Given the description of an element on the screen output the (x, y) to click on. 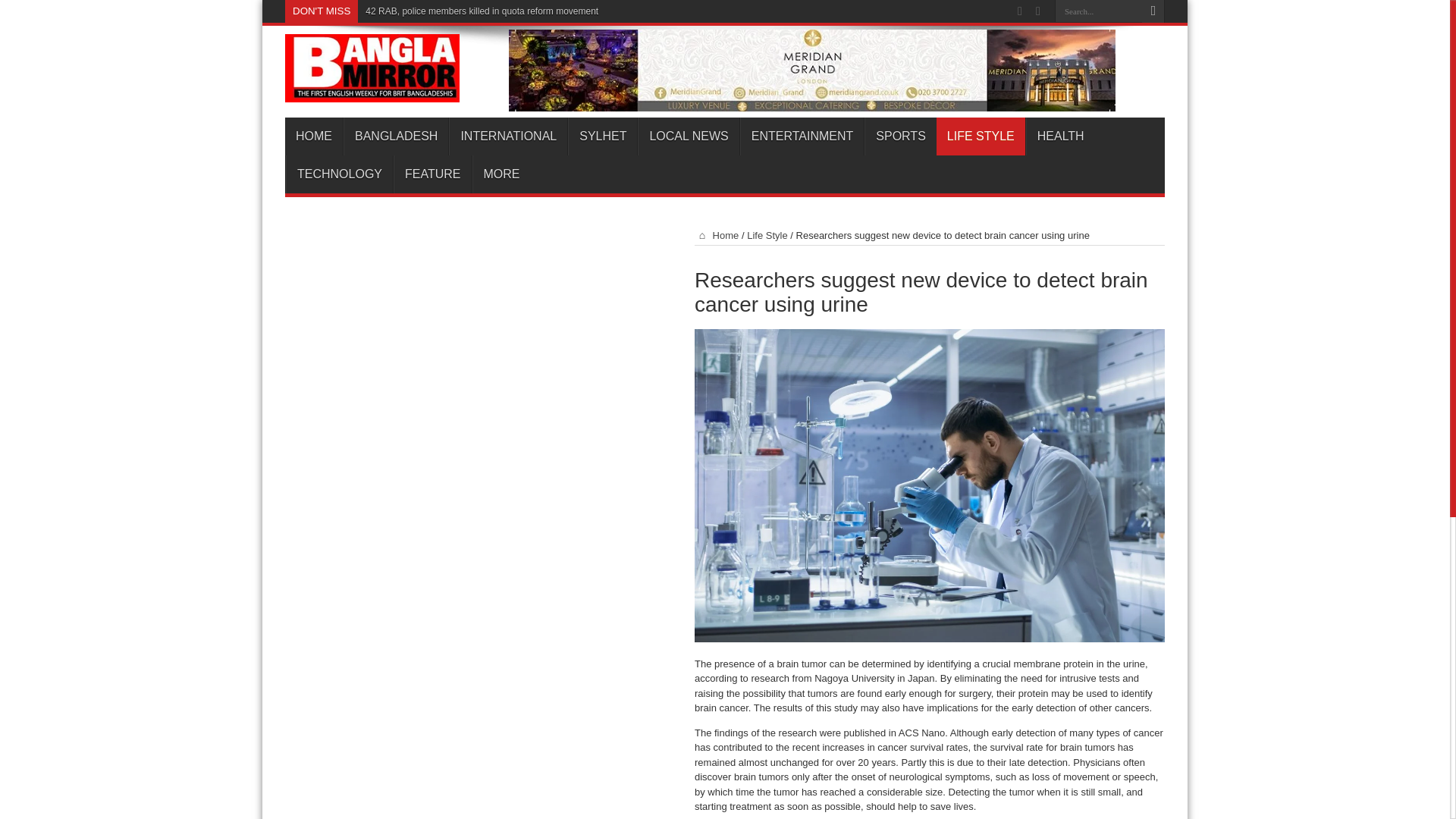
FEATURE (431, 174)
Search... (1097, 11)
42 RAB, police members killed in quota reform movement (481, 11)
HEALTH (1060, 136)
TECHNOLOGY (339, 174)
Search (1152, 11)
MORE (500, 174)
